Given the description of an element on the screen output the (x, y) to click on. 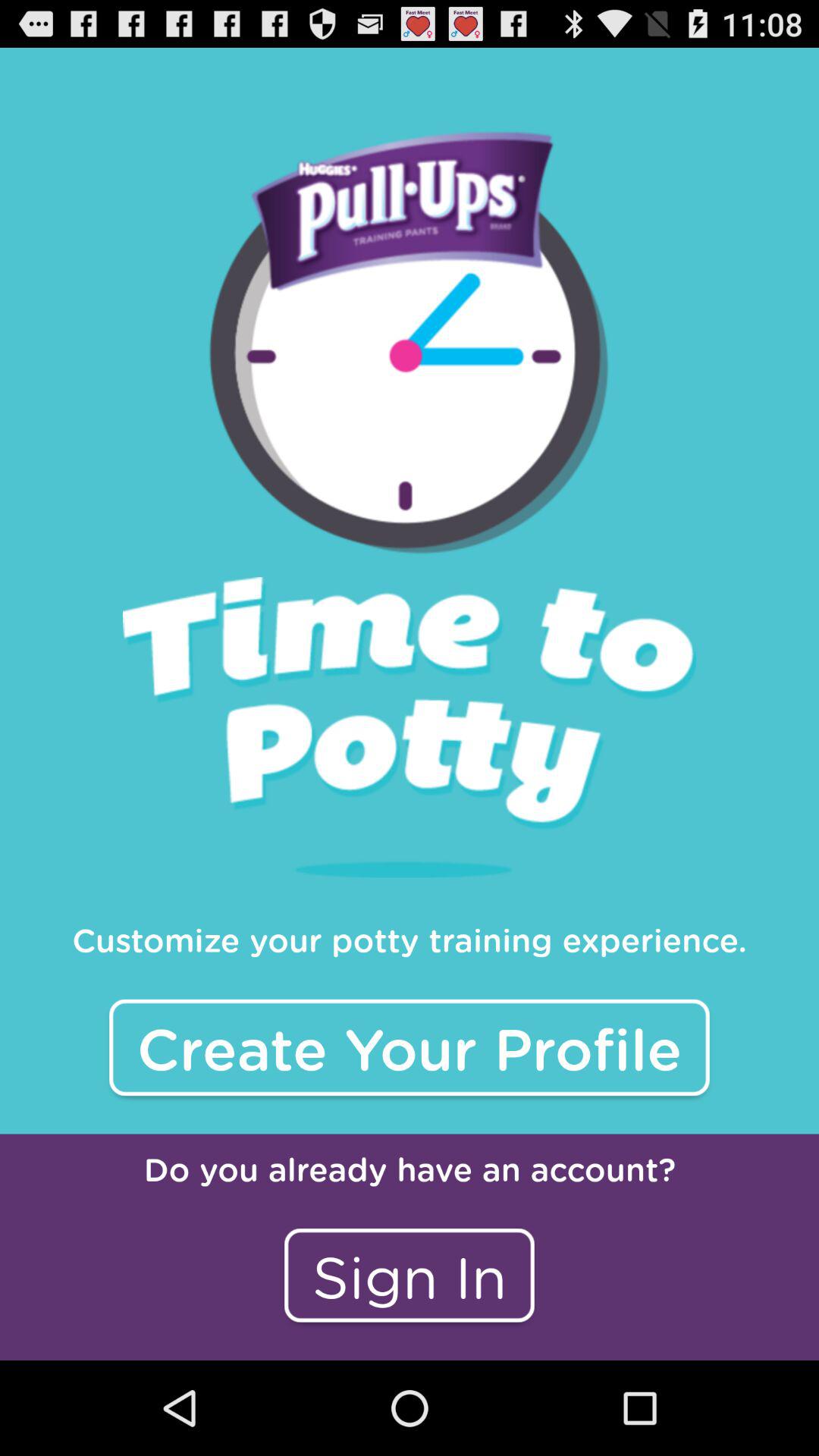
scroll until sign in button (409, 1275)
